Given the description of an element on the screen output the (x, y) to click on. 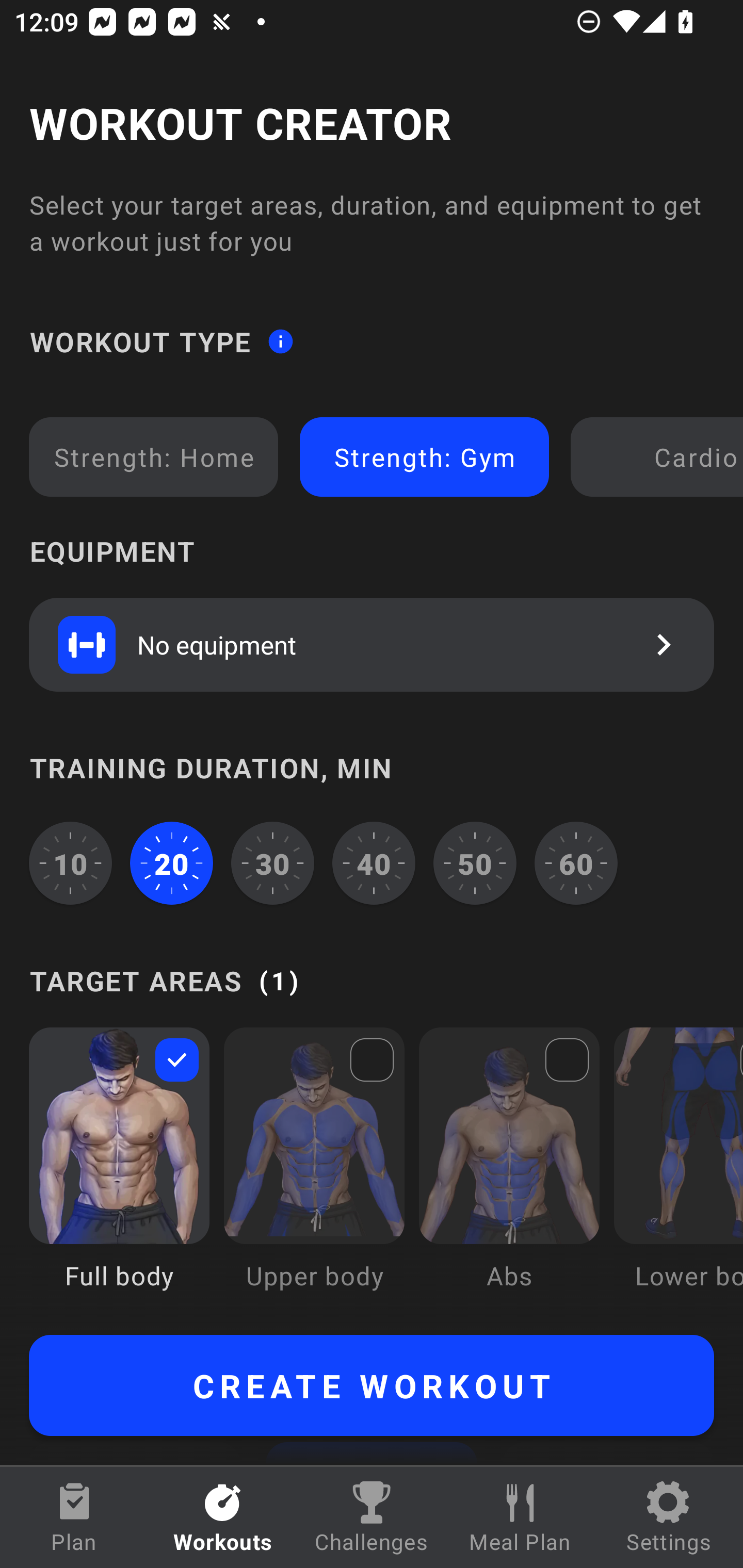
Workout type information button (280, 340)
Strength: Home (153, 457)
Cardio (660, 457)
No equipment (371, 644)
10 (70, 863)
20 (171, 863)
30 (272, 863)
40 (373, 863)
50 (474, 863)
60 (575, 863)
Upper body (313, 1172)
Abs (509, 1172)
Lower body (678, 1172)
CREATE WORKOUT (371, 1385)
 Plan  (74, 1517)
 Challenges  (371, 1517)
 Meal Plan  (519, 1517)
 Settings  (668, 1517)
